Given the description of an element on the screen output the (x, y) to click on. 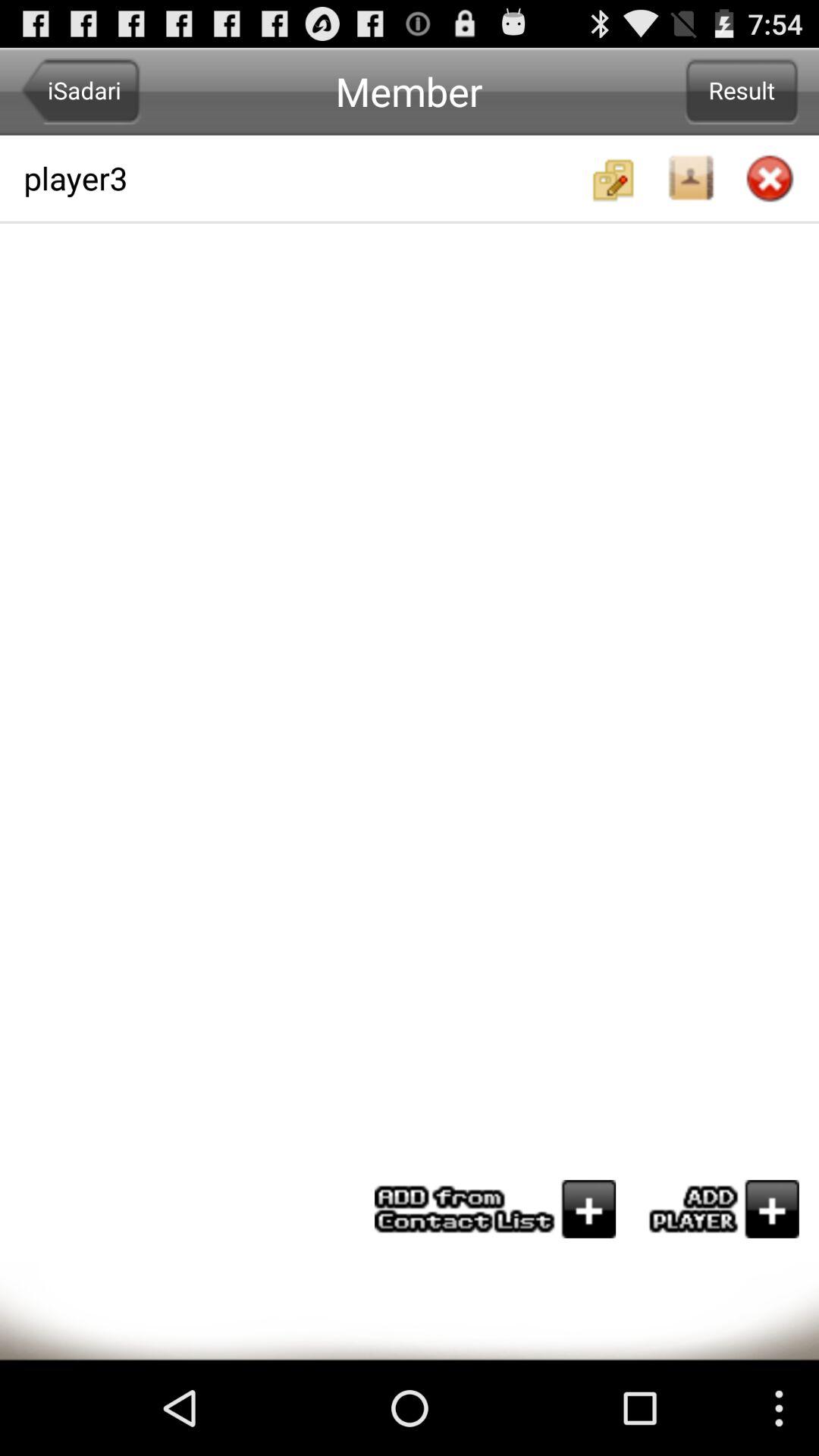
select the result (741, 91)
